Given the description of an element on the screen output the (x, y) to click on. 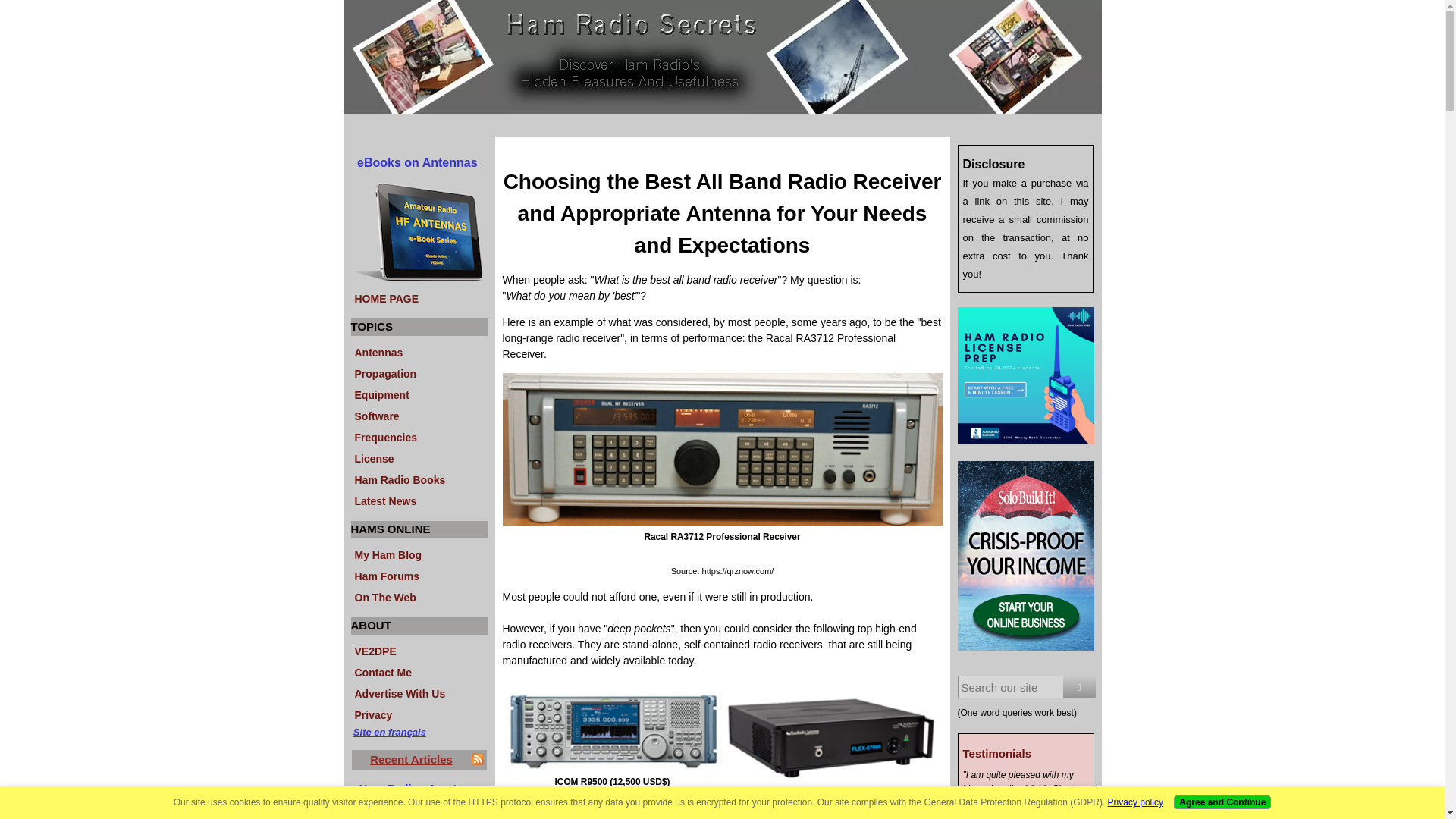
Software (418, 414)
Recent Articles (410, 758)
Antennas (418, 351)
License (418, 456)
Ham Forums (418, 574)
My Ham Blog (418, 553)
Contact Me (418, 670)
On The Web (418, 596)
Equipment (418, 393)
eBooks on Antennas  (418, 162)
HOME PAGE (418, 297)
Latest News (418, 499)
Frequencies (418, 435)
Propagation (418, 372)
Ham Radio Books (418, 478)
